Given the description of an element on the screen output the (x, y) to click on. 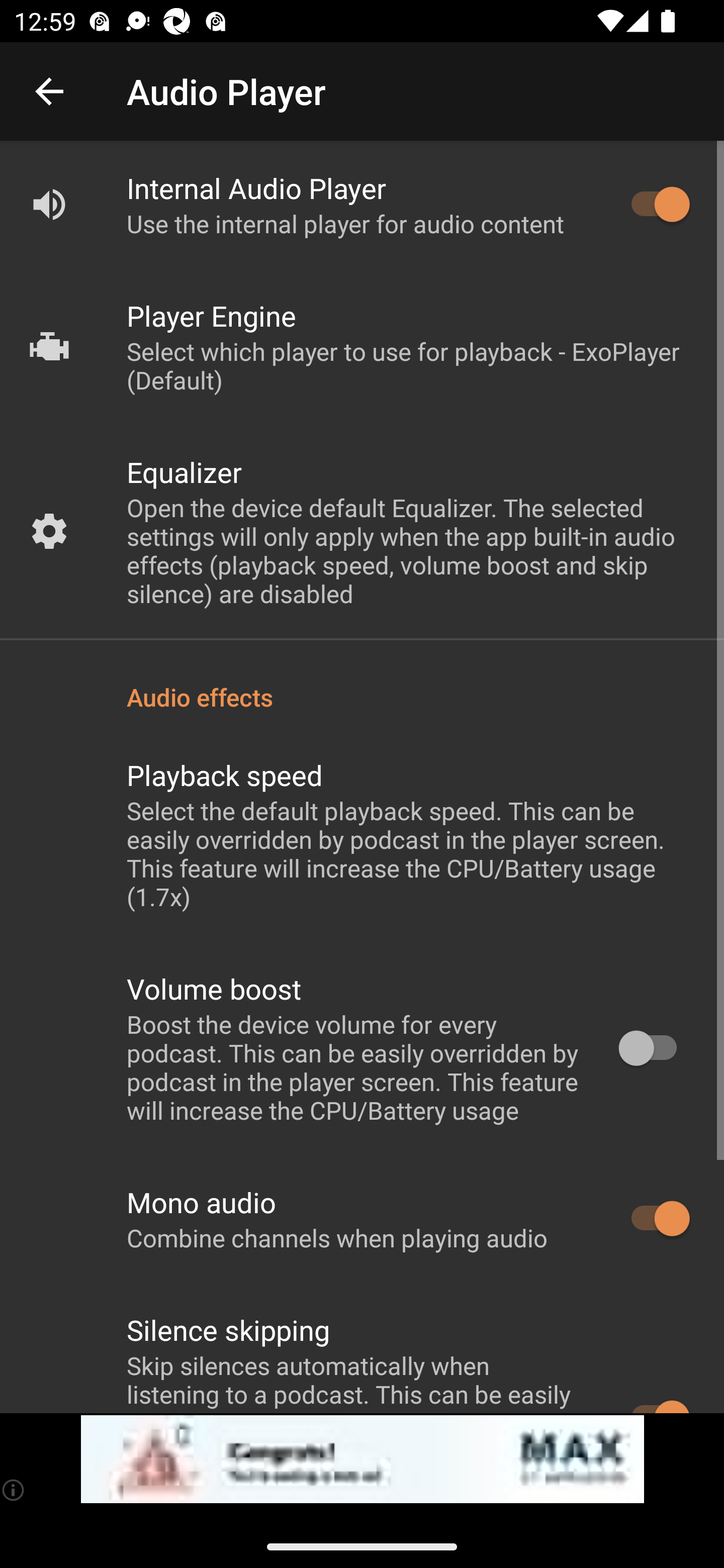
Navigate up (49, 91)
Mono audio Combine channels when playing audio (362, 1218)
